Given the description of an element on the screen output the (x, y) to click on. 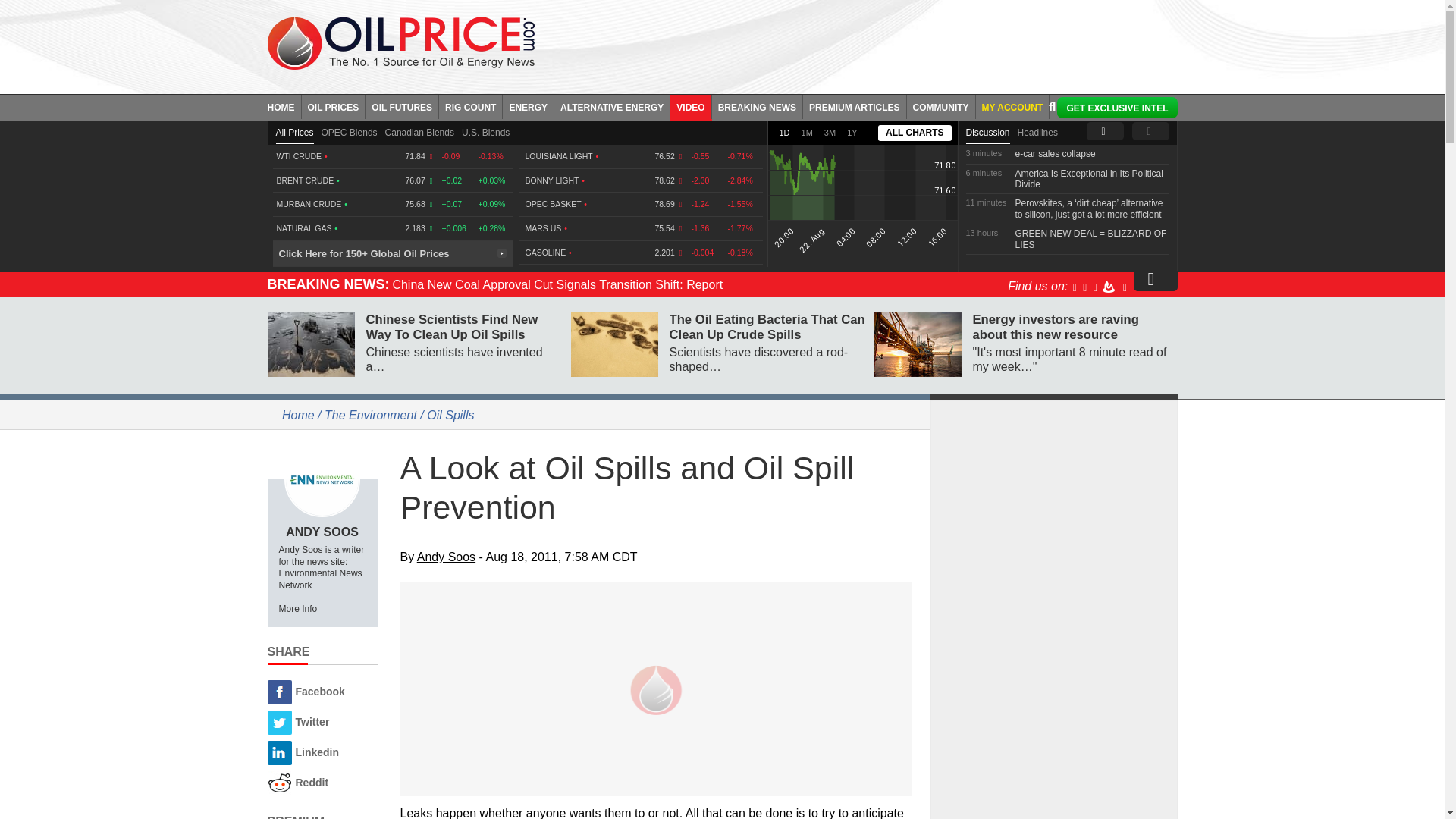
OIL FUTURES (402, 106)
Andy Soos (321, 478)
Oil prices - Oilprice.com (400, 42)
ALTERNATIVE ENERGY (611, 106)
BREAKING NEWS (757, 106)
Chinese Scientists Find New Way To Clean Up Oil Spills (309, 344)
PREMIUM ARTICLES (855, 106)
ENERGY (528, 106)
RIG COUNT (470, 106)
VIDEO (690, 106)
